Given the description of an element on the screen output the (x, y) to click on. 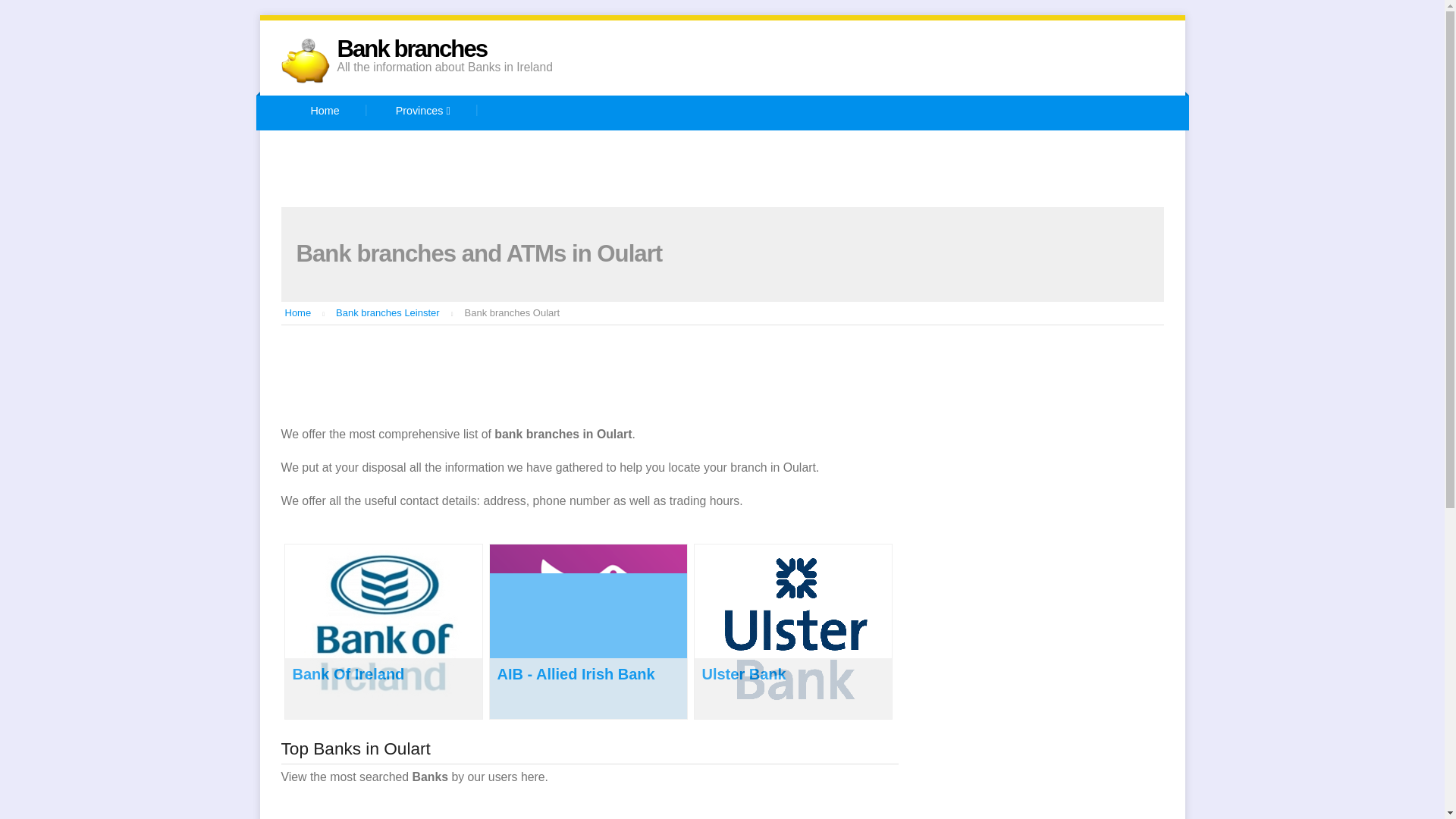
Bank Of Ireland (648, 149)
Bank Of Ireland (348, 673)
Bank Of Ireland (348, 673)
Credit Union (772, 149)
Ulster Bank (743, 673)
Bank branches Leinster (387, 312)
AIB - Allied Irish Bank (576, 673)
Permanent TSB (897, 149)
Ulster Bank (365, 187)
AIB - Allied Irish Bank (503, 149)
